Given the description of an element on the screen output the (x, y) to click on. 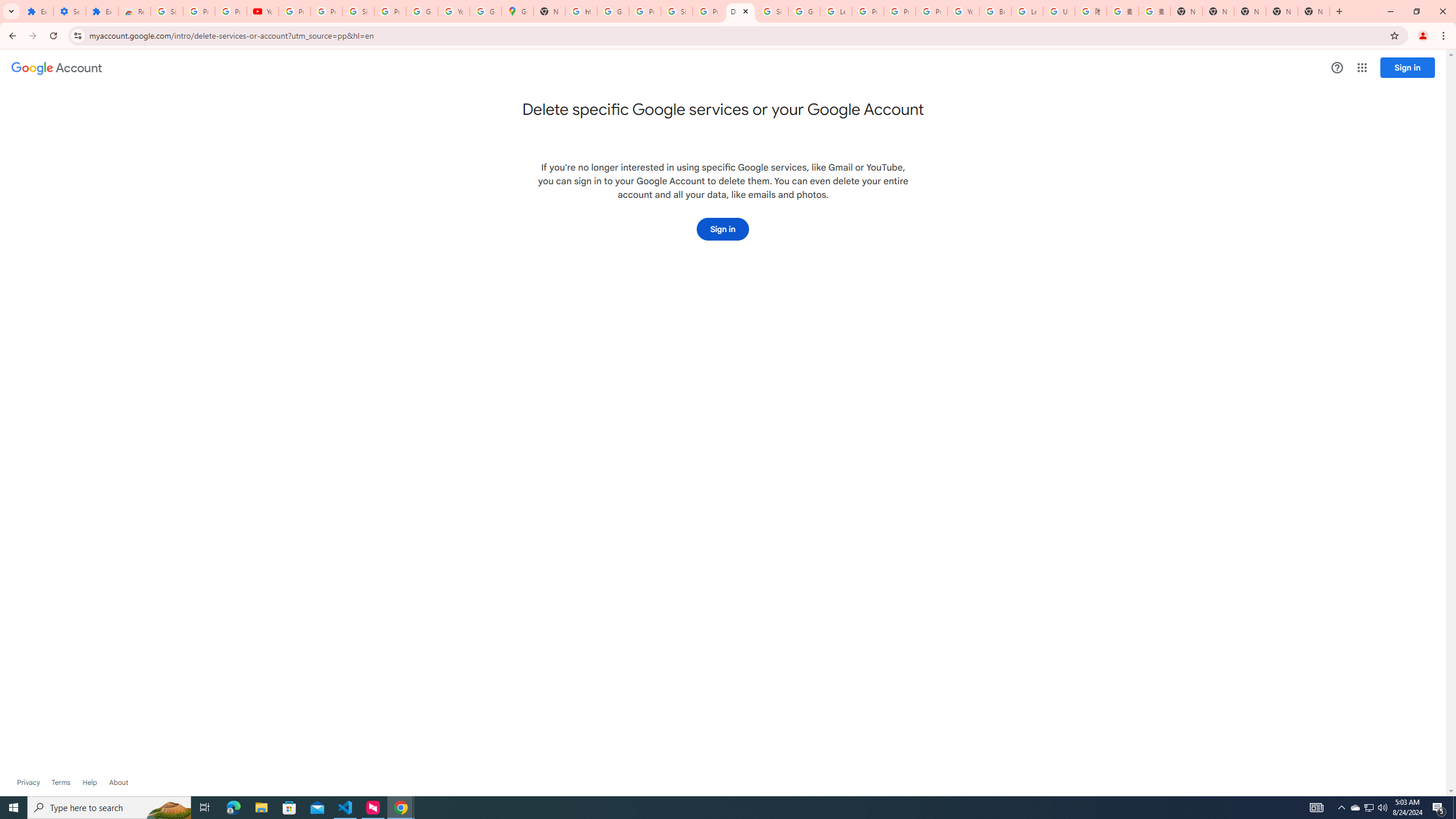
Google Maps (517, 11)
New Tab (1313, 11)
Sign in - Google Accounts (166, 11)
Browse Chrome as a guest - Computer - Google Chrome Help (995, 11)
Privacy Help Center - Policies Help (868, 11)
Sign in - Google Accounts (676, 11)
Help (89, 782)
New Tab (1185, 11)
